Given the description of an element on the screen output the (x, y) to click on. 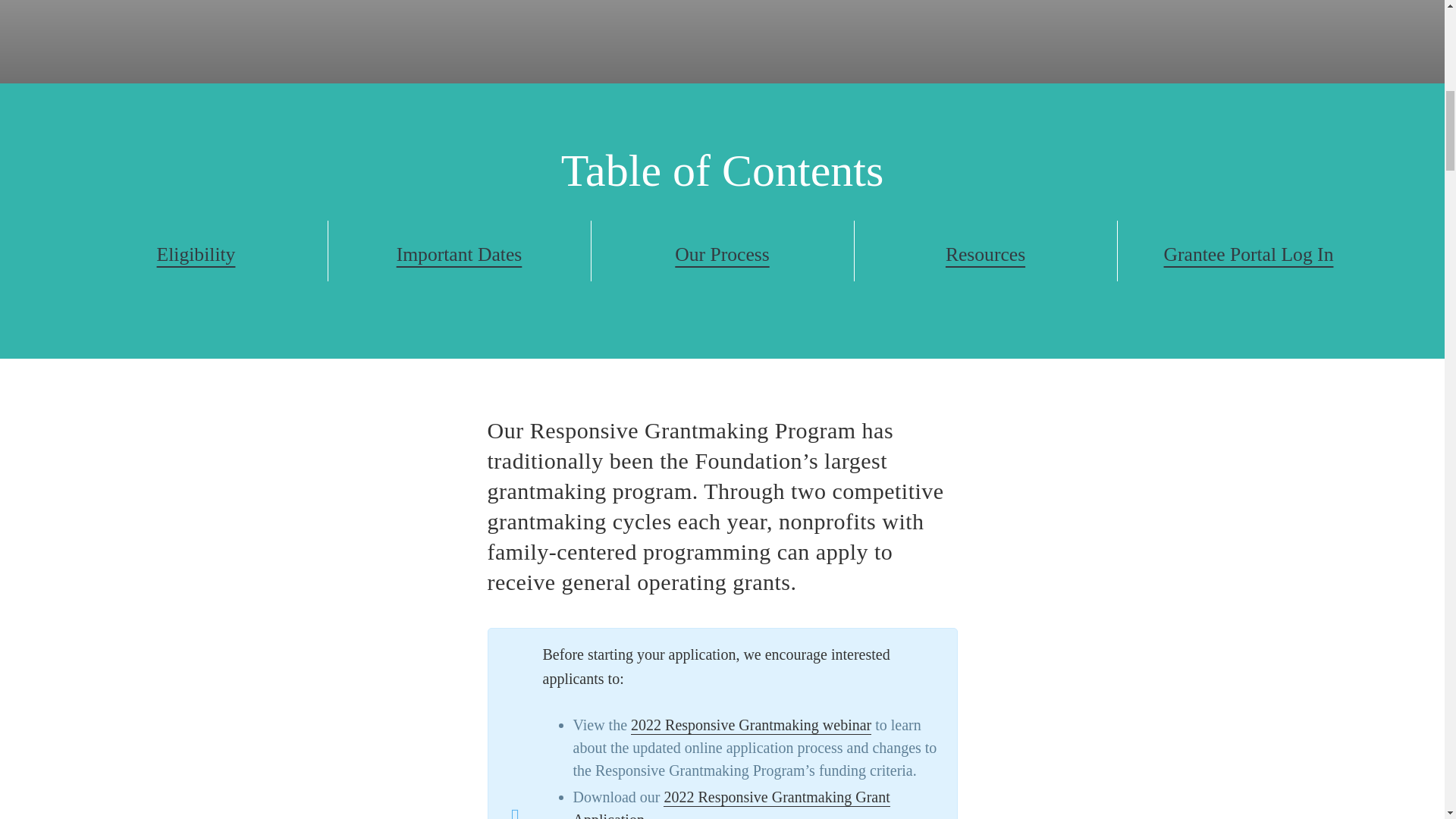
2022 Responsive Grantmaking webinar (750, 725)
2022 Responsive Grantmaking Grant Application (731, 803)
Eligibility (196, 254)
Resources (985, 254)
Our Process (722, 254)
Grantee Portal Log In (1249, 254)
Important Dates (459, 254)
